Given the description of an element on the screen output the (x, y) to click on. 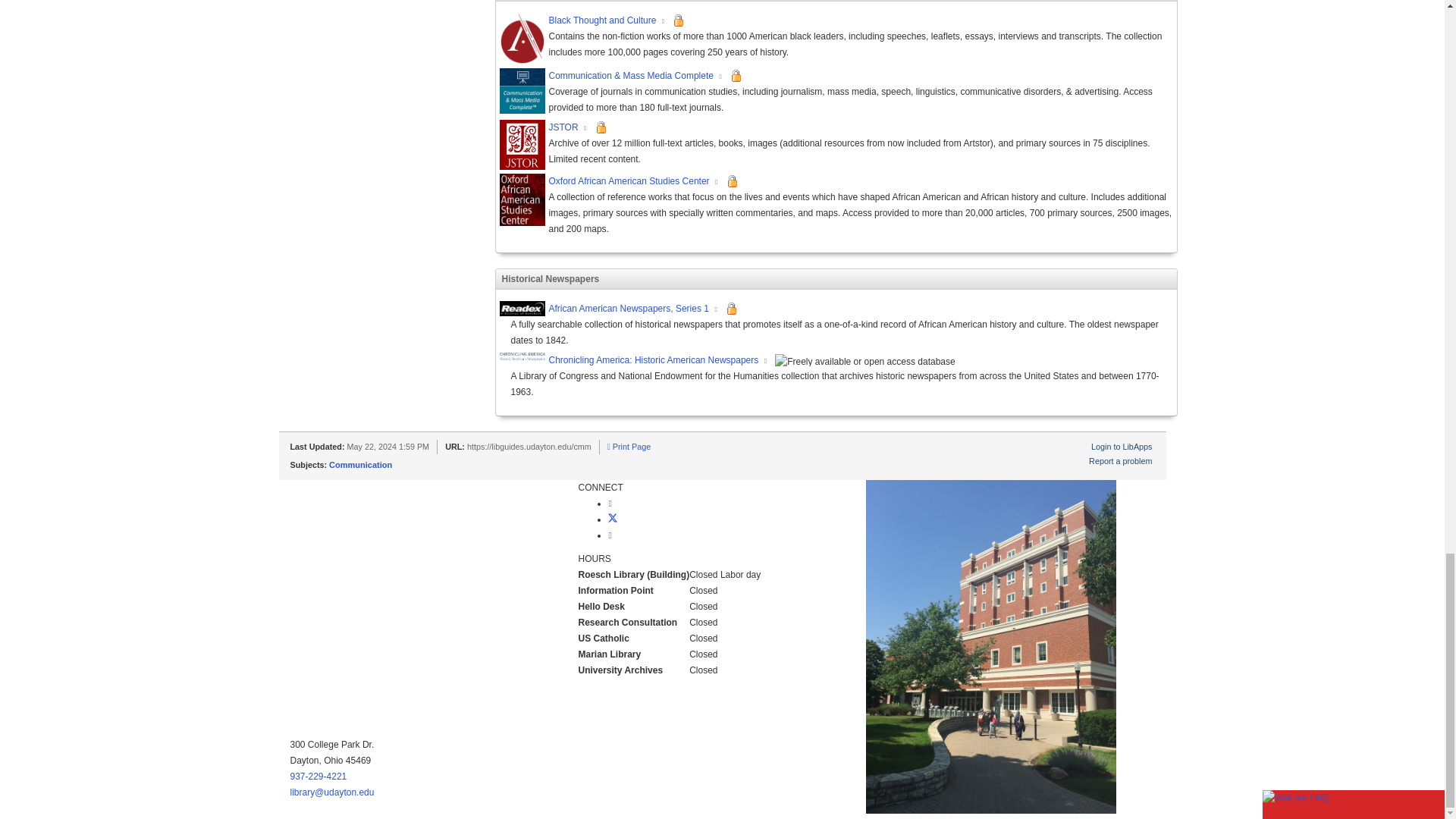
This link opens in a new window (720, 76)
This link opens in a new window (663, 21)
